Given the description of an element on the screen output the (x, y) to click on. 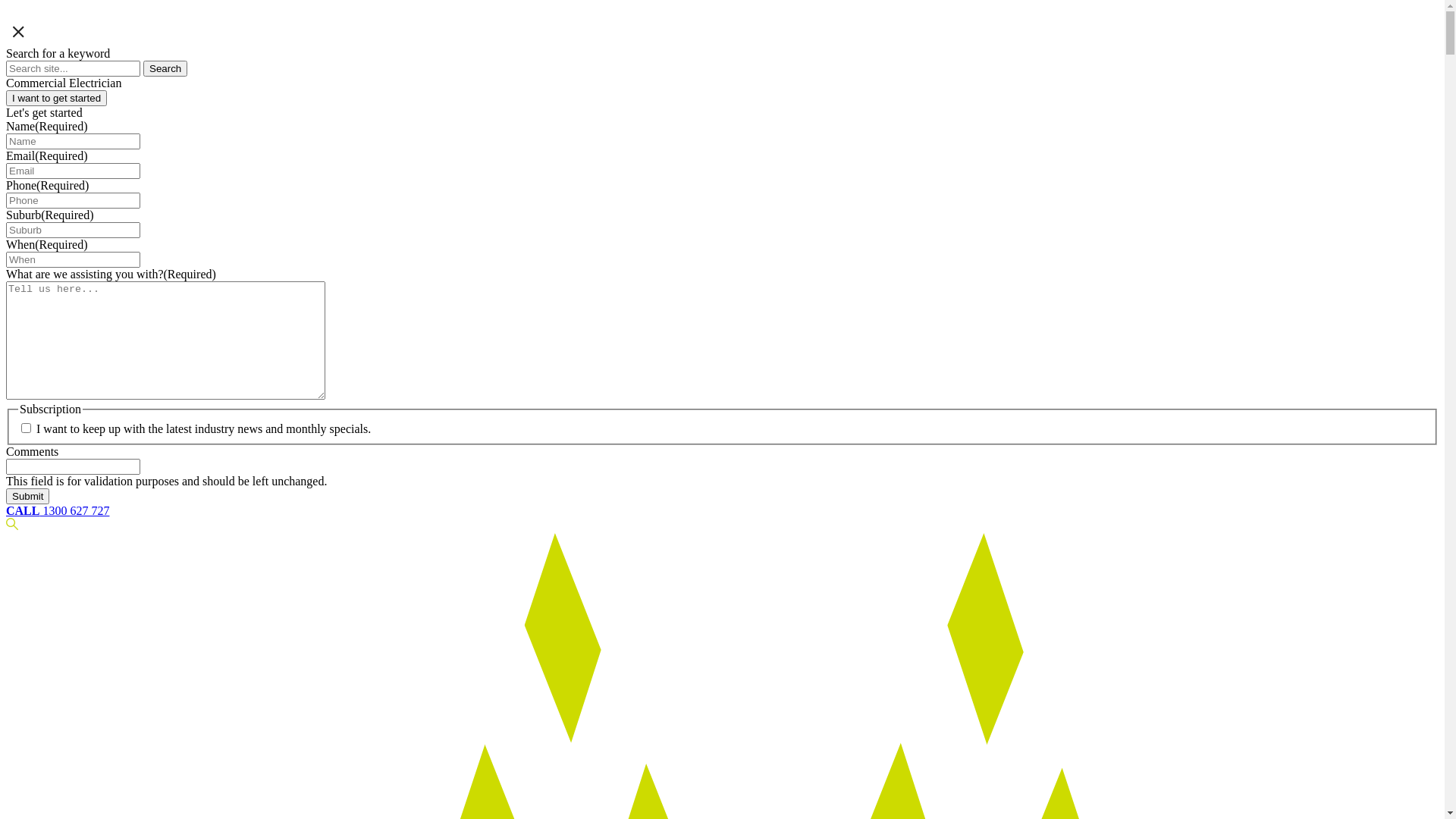
Submit Element type: text (27, 496)
I want to get started Element type: text (56, 98)
CALL 1300 627 727 Element type: text (57, 510)
Search Element type: text (165, 68)
